Given the description of an element on the screen output the (x, y) to click on. 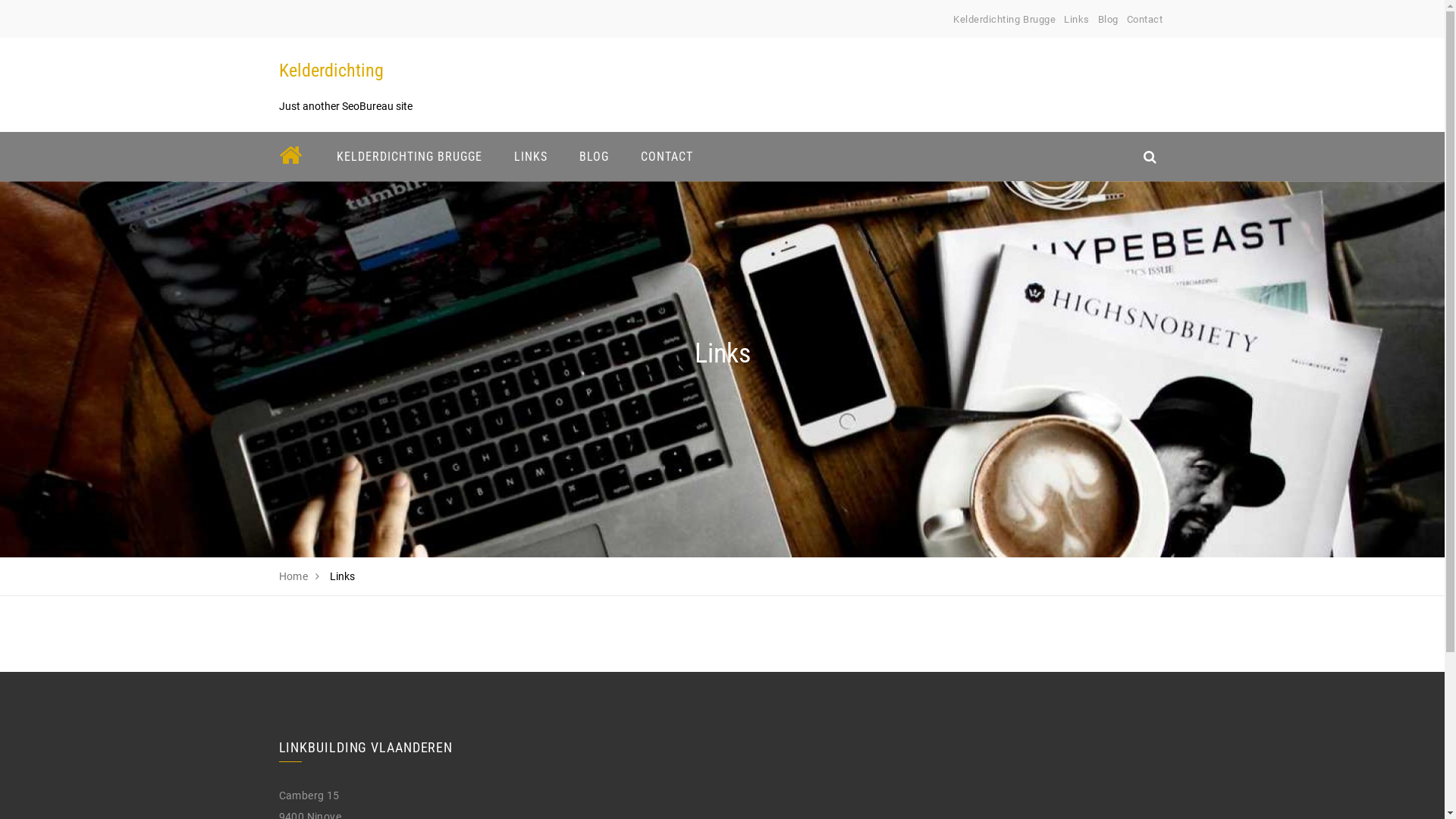
Contact Element type: text (1144, 19)
CONTACT Element type: text (666, 156)
Kelderdichting Element type: text (331, 70)
BLOG Element type: text (593, 156)
KELDERDICHTING BRUGGE Element type: text (408, 156)
Home Element type: text (293, 576)
Links Element type: text (1076, 19)
Blog Element type: text (1108, 19)
Kelderdichting Brugge Element type: text (1004, 19)
LINKS Element type: text (529, 156)
search_icon Element type: hover (1148, 156)
